Given the description of an element on the screen output the (x, y) to click on. 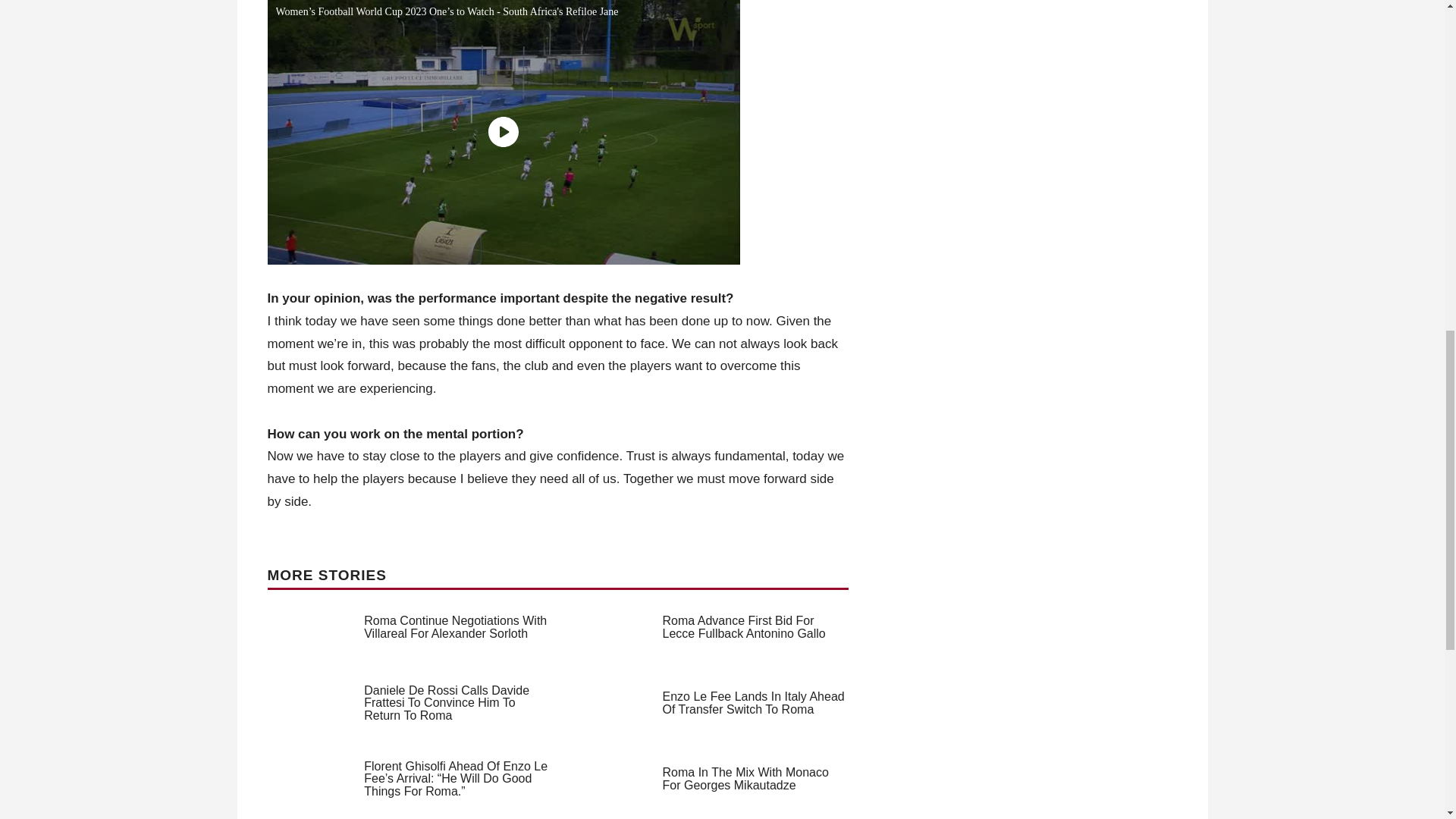
X (1434, 760)
Roma In The Mix With Monaco For Georges Mikautadze (745, 778)
Enzo Le Fee Lands In Italy Ahead Of Transfer Switch To Roma (753, 702)
Roma Advance First Bid For Lecce Fullback Antonino Gallo (743, 626)
